Given the description of an element on the screen output the (x, y) to click on. 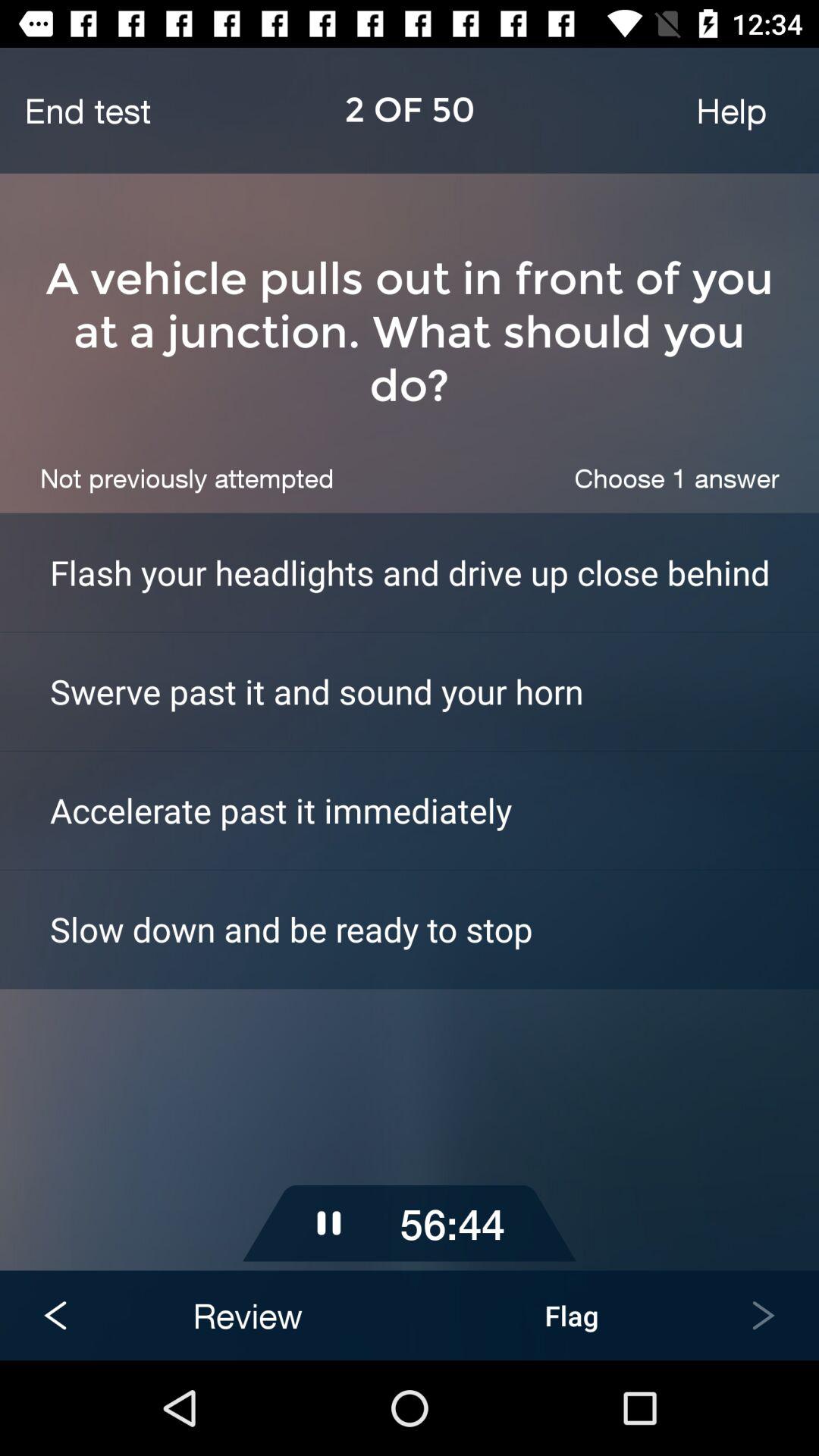
scroll until the slow down and icon (434, 929)
